Given the description of an element on the screen output the (x, y) to click on. 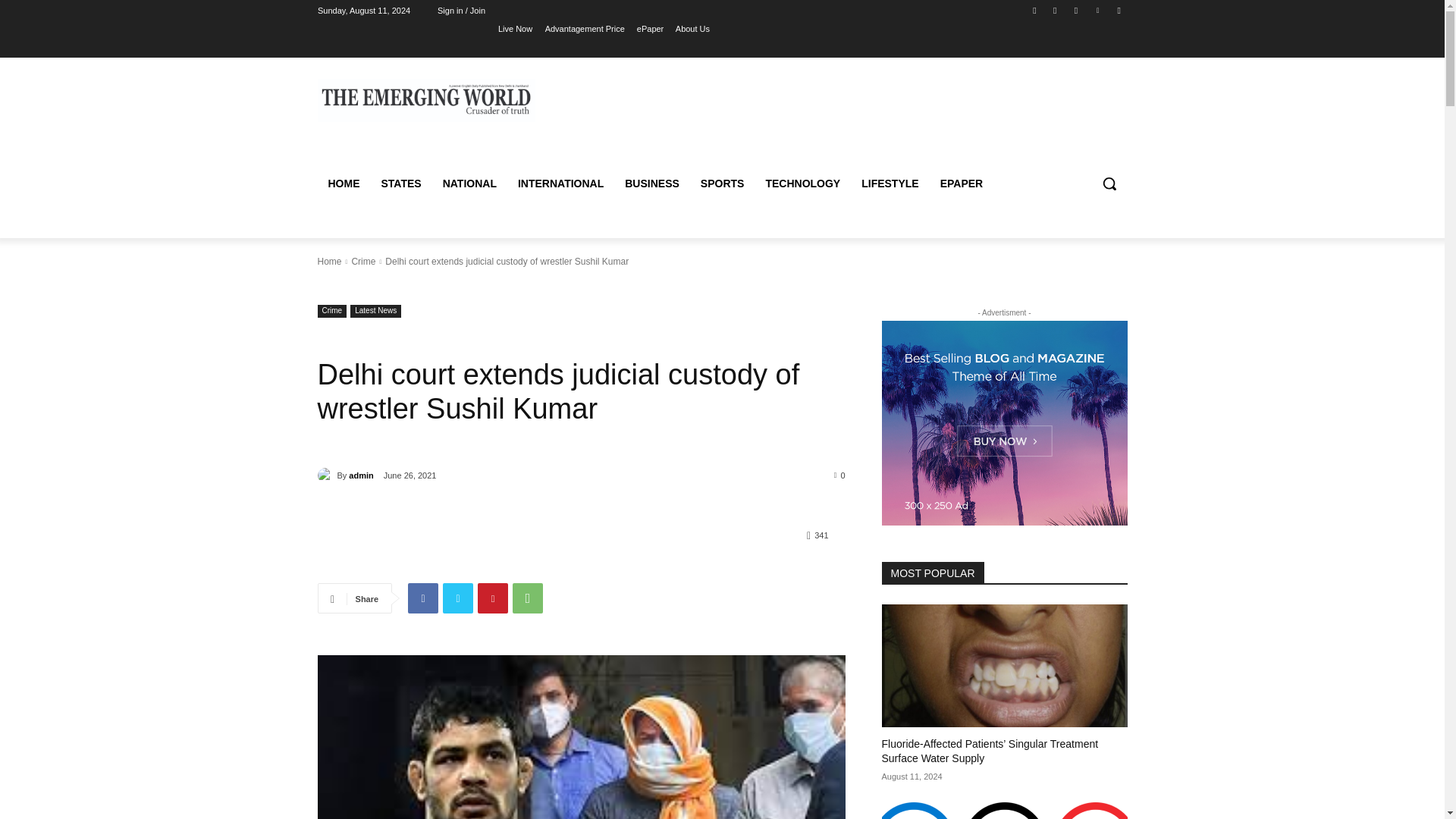
Vimeo (1097, 9)
Facebook (1034, 9)
LIFESTYLE (889, 183)
Instagram (1055, 9)
Advertisement (849, 115)
HOME (343, 183)
NATIONAL (469, 183)
About Us (692, 28)
STATES (399, 183)
EPAPER (962, 183)
